Given the description of an element on the screen output the (x, y) to click on. 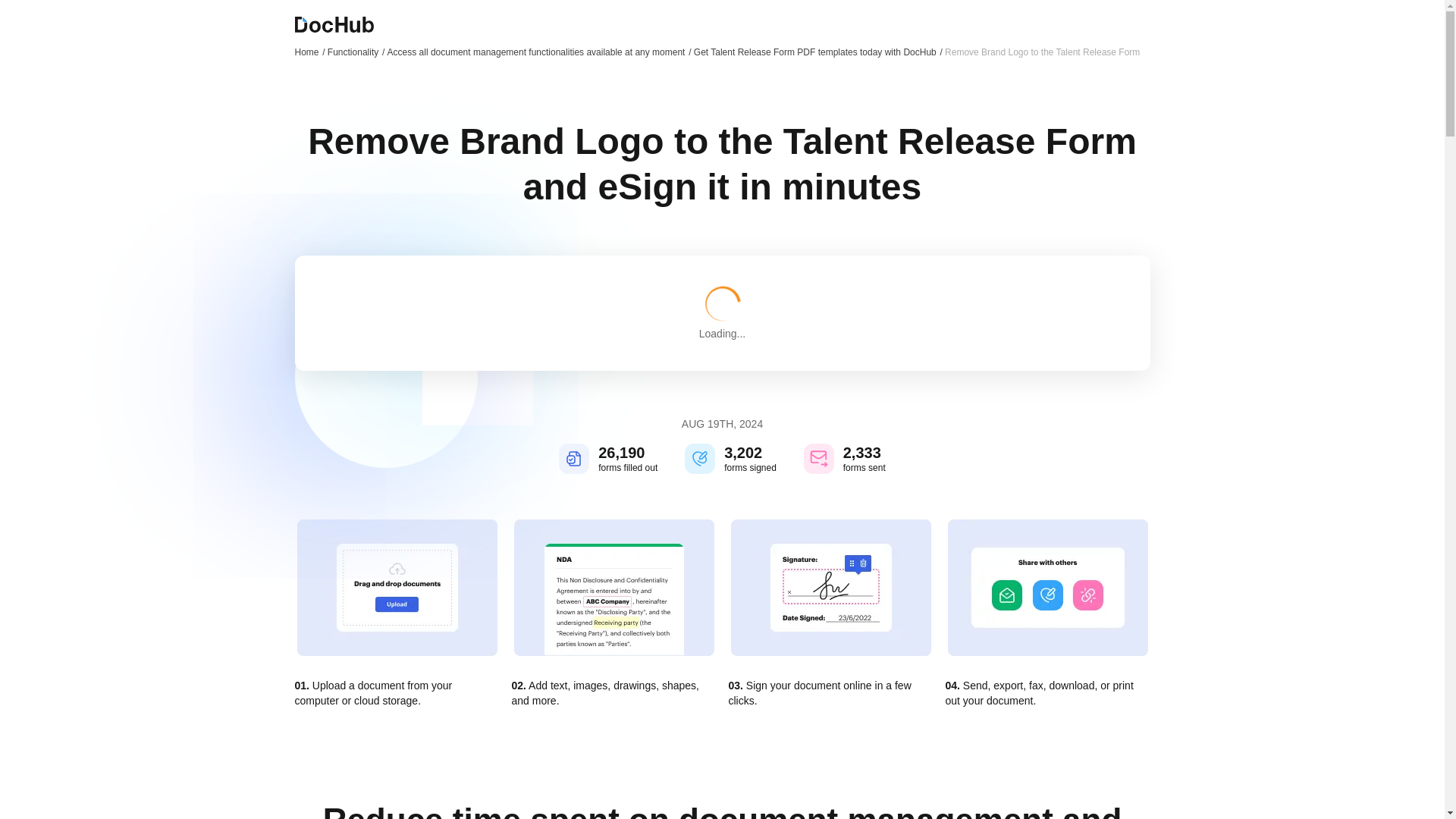
Get Talent Release Form PDF templates today with DocHub (818, 51)
Home (309, 51)
Functionality (355, 51)
